Given the description of an element on the screen output the (x, y) to click on. 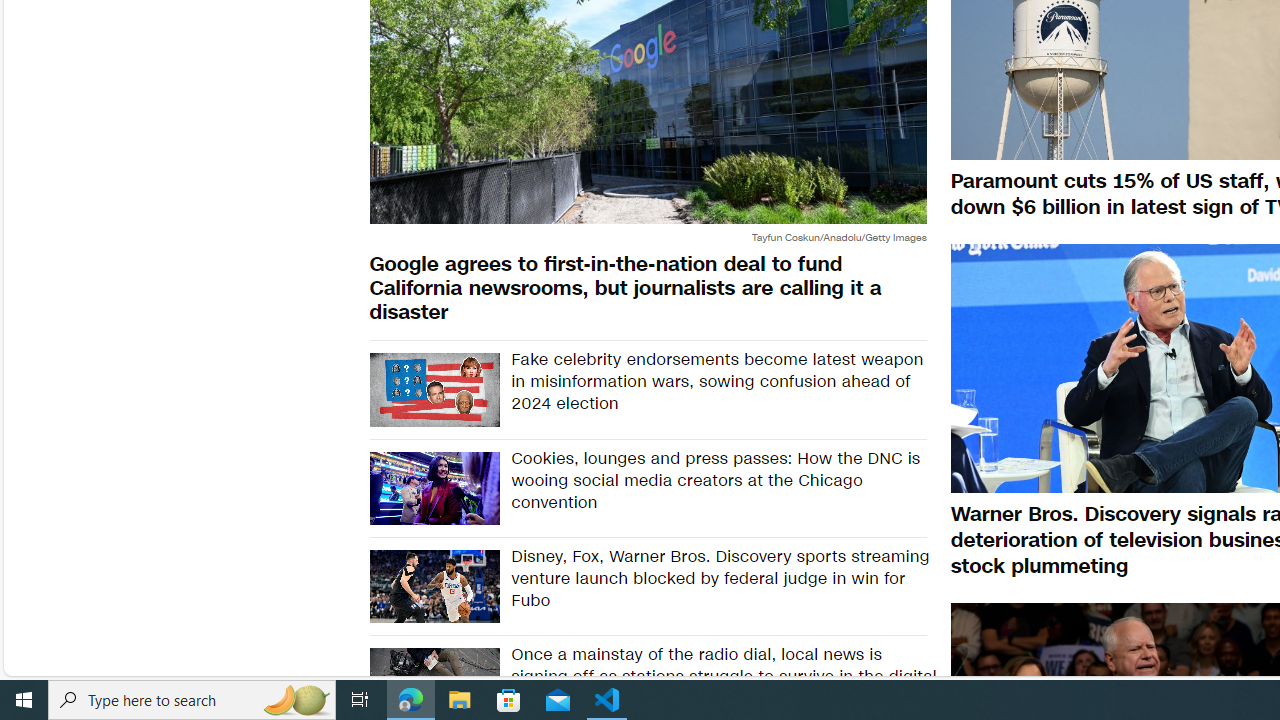
V6.jpg (434, 389)
V6.jpg (434, 389)
